Given the description of an element on the screen output the (x, y) to click on. 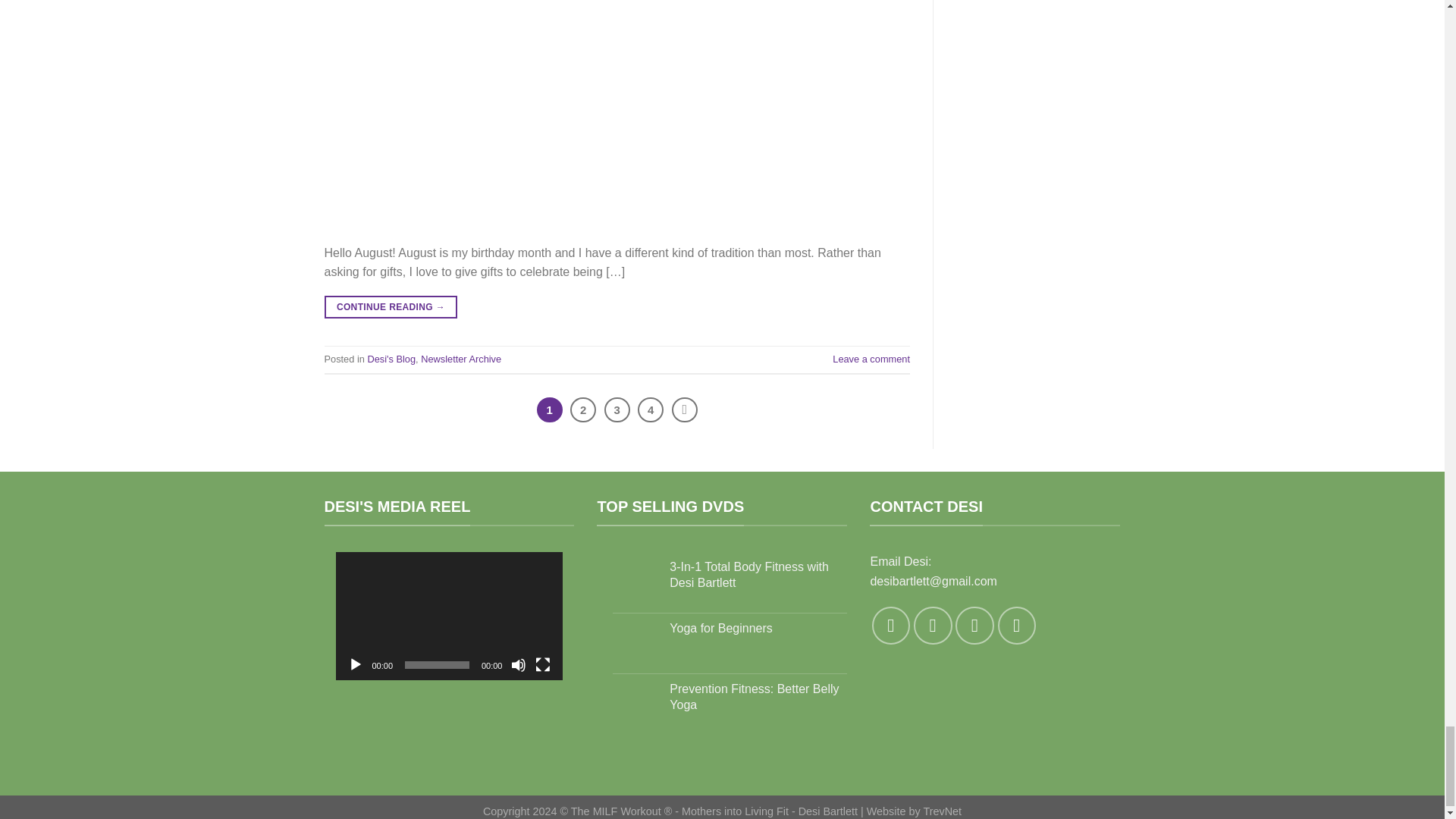
Play (354, 664)
Follow on Facebook (891, 625)
3-In-1 Total Body Fitness with Desi Bartlett (758, 575)
Mute (518, 664)
Prevention Fitness: Better Belly Yoga (758, 697)
Fullscreen (542, 664)
Yoga for Beginners (758, 628)
